Given the description of an element on the screen output the (x, y) to click on. 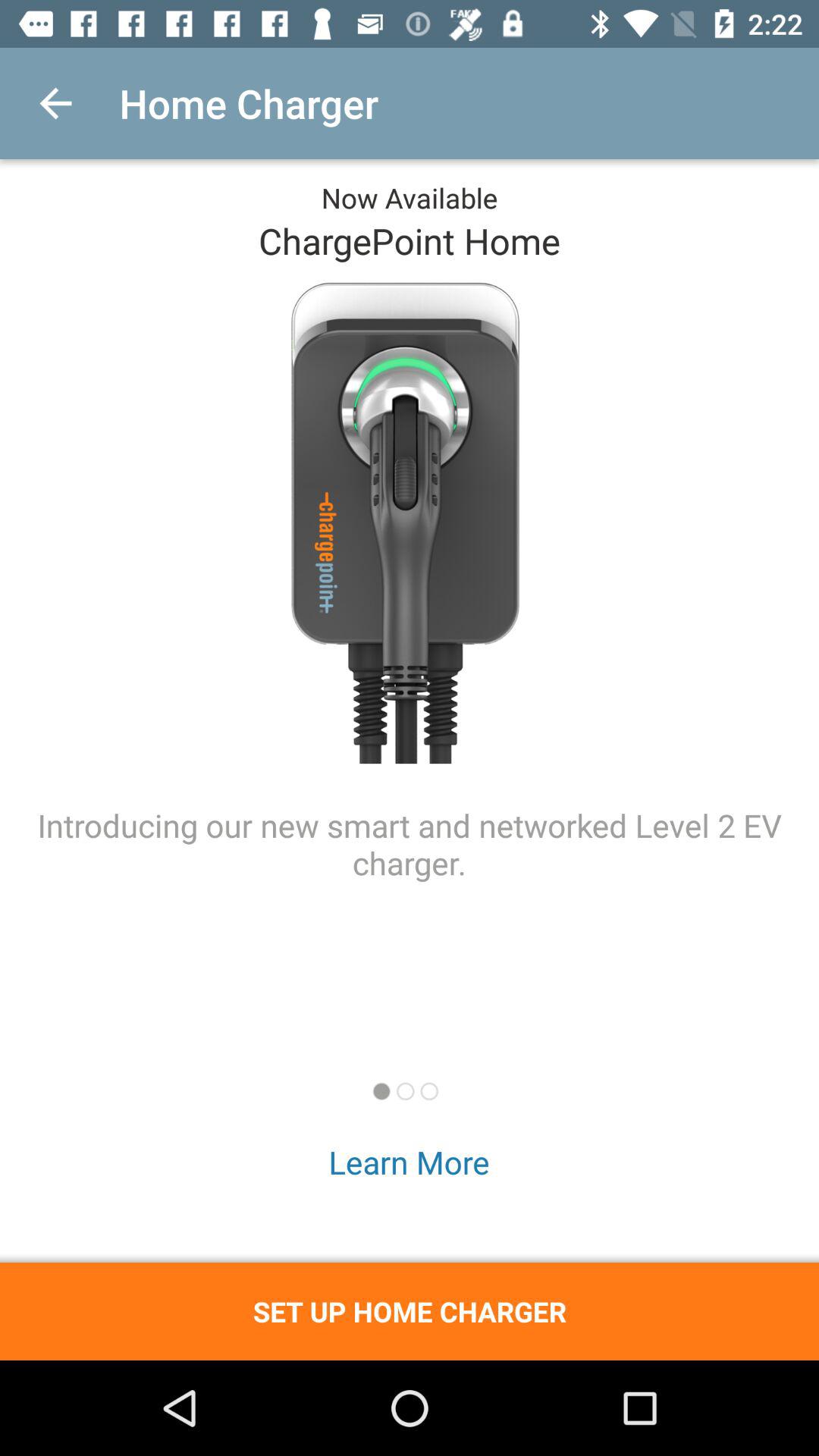
open icon to the left of the home charger icon (55, 103)
